Given the description of an element on the screen output the (x, y) to click on. 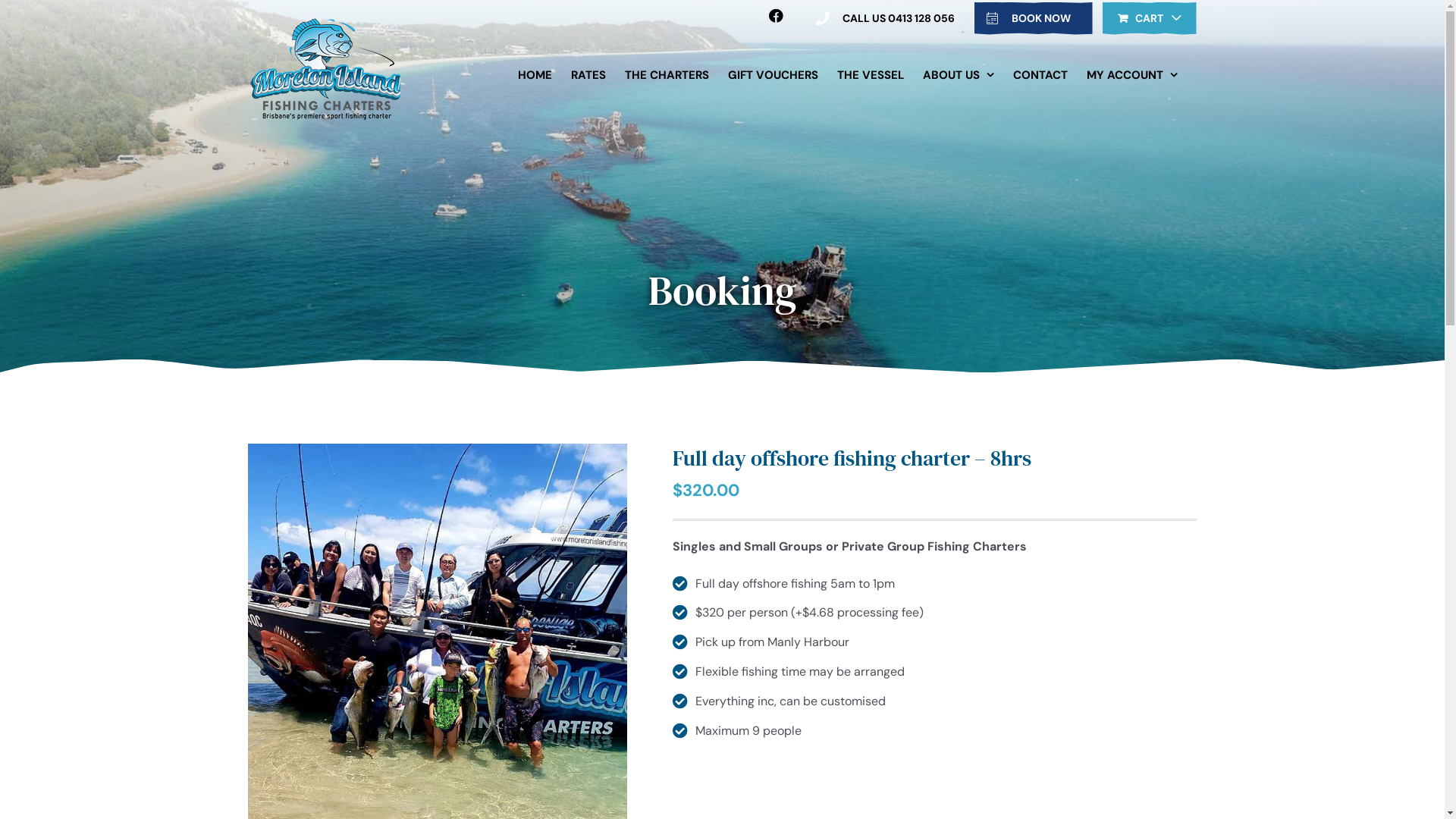
THE CHARTERS Element type: text (666, 74)
Log In Element type: text (1183, 256)
HOME Element type: text (534, 74)
CONTACT Element type: text (1040, 74)
CALL US 0413 128 056 Element type: text (878, 18)
GIFT VOUCHERS Element type: text (773, 74)
ABOUT US Element type: text (957, 74)
RATES Element type: text (587, 74)
THE VESSEL Element type: text (870, 74)
CART Element type: text (1149, 18)
MY ACCOUNT Element type: text (1130, 74)
BOOK NOW Element type: text (1033, 18)
